Given the description of an element on the screen output the (x, y) to click on. 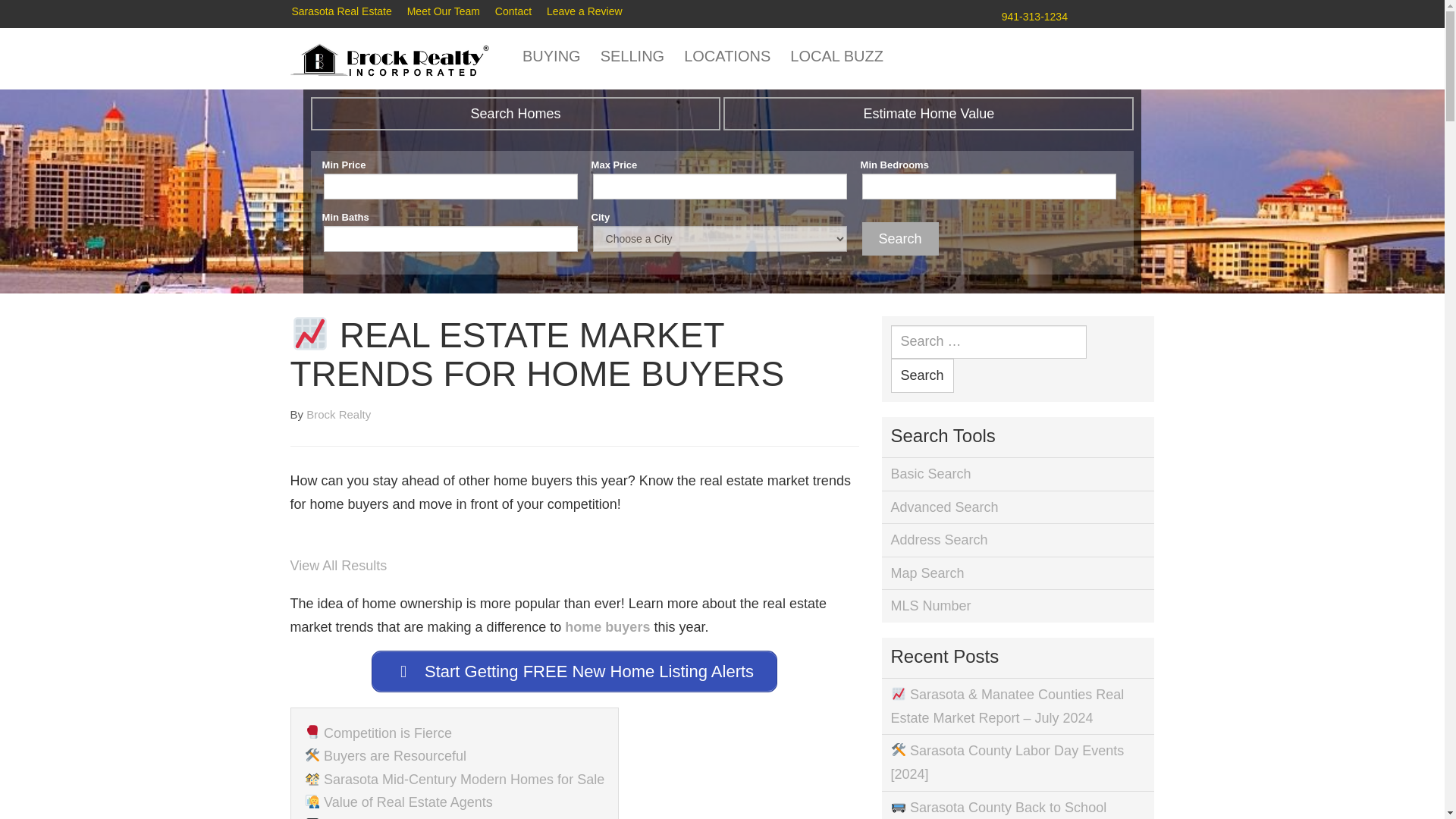
BUYING (550, 55)
Buying (550, 55)
Search (921, 375)
Search (900, 238)
LOCAL BUZZ (835, 55)
941-313-1234 (1034, 16)
Sarasota Real Estate (341, 11)
Locations (725, 55)
SELLING (630, 55)
Contact (512, 11)
